Given the description of an element on the screen output the (x, y) to click on. 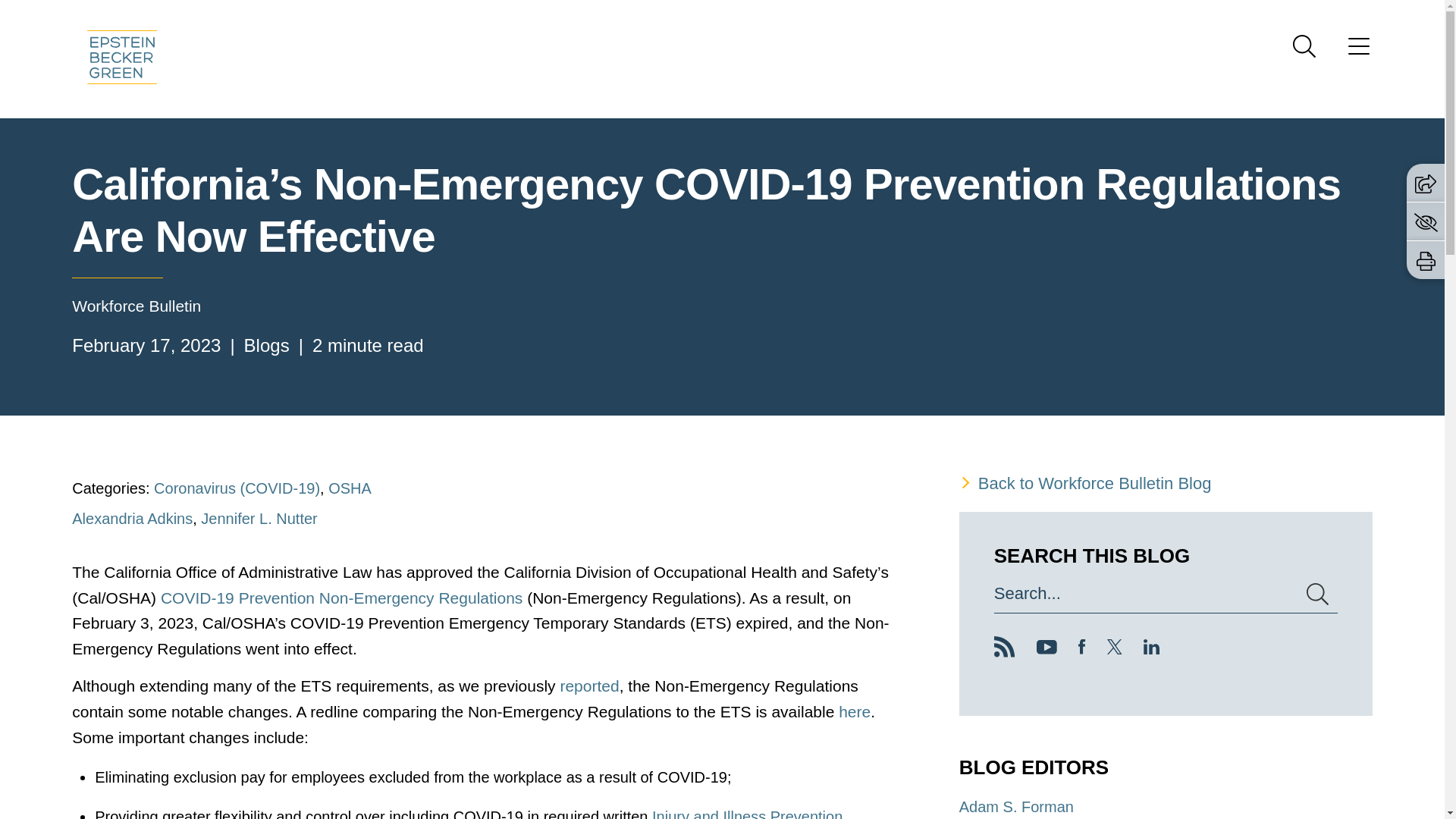
Twitter (1114, 646)
Linkedin (1150, 648)
COVID-19 Prevention Non-Emergency Regulations (341, 597)
OSHA (350, 487)
Main Content (666, 15)
here (854, 711)
Go to the privacy settings (1425, 221)
Injury and Illness Prevention Programs (468, 813)
Menu (673, 15)
Twitter (1114, 648)
Main Menu (673, 15)
Share (1425, 183)
reported (588, 685)
Share (1425, 182)
Search (1304, 46)
